Given the description of an element on the screen output the (x, y) to click on. 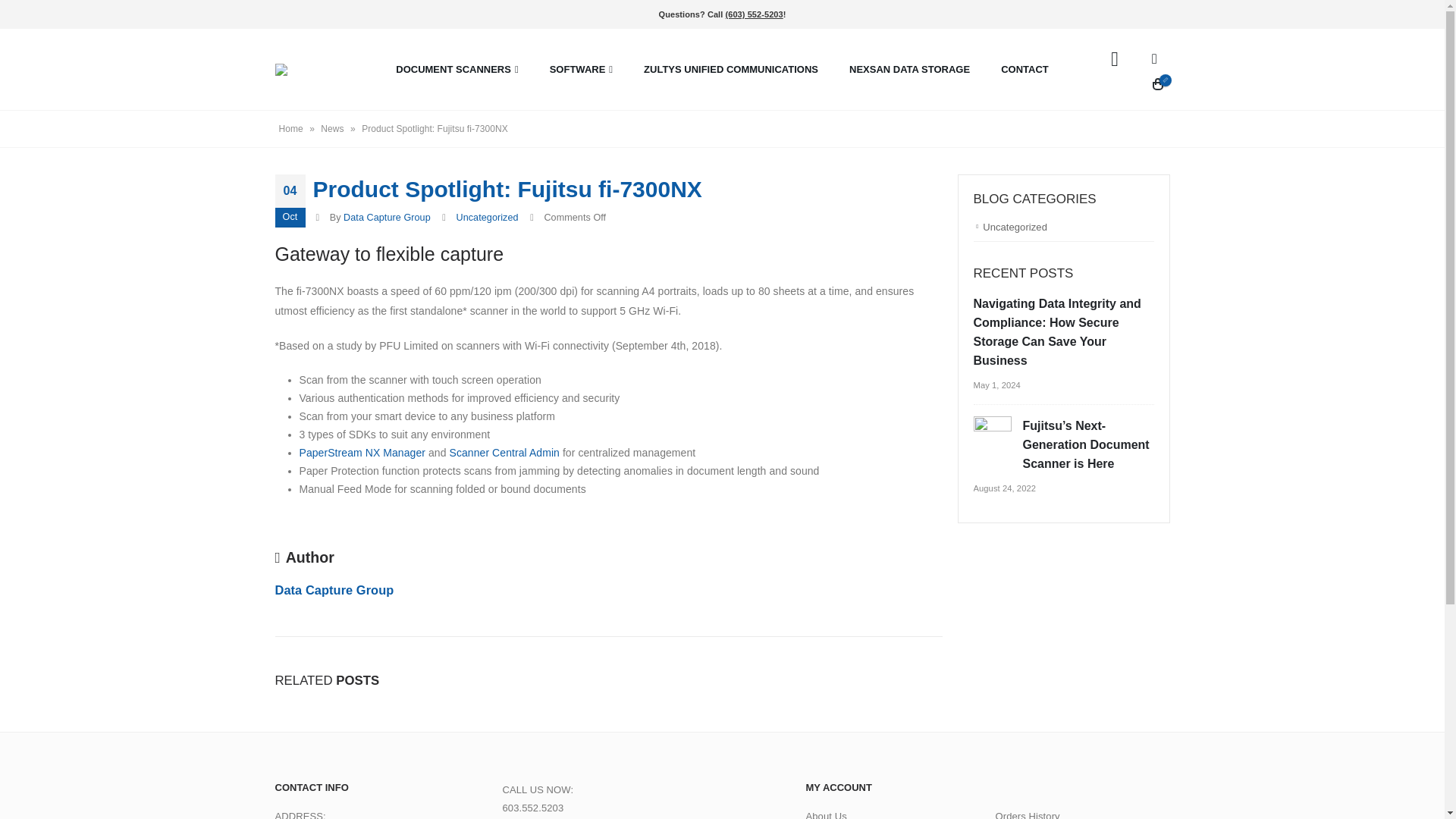
ZULTYS UNIFIED COMMUNICATIONS (730, 68)
Home (290, 128)
Posts by Data Capture Group (386, 217)
DOCUMENT SCANNERS (456, 68)
News (331, 128)
Posts by Data Capture Group (334, 590)
CONTACT (1024, 68)
NEXSAN DATA STORAGE (909, 68)
Data Capture Group (386, 217)
SOFTWARE (580, 68)
Uncategorized (487, 217)
